Given the description of an element on the screen output the (x, y) to click on. 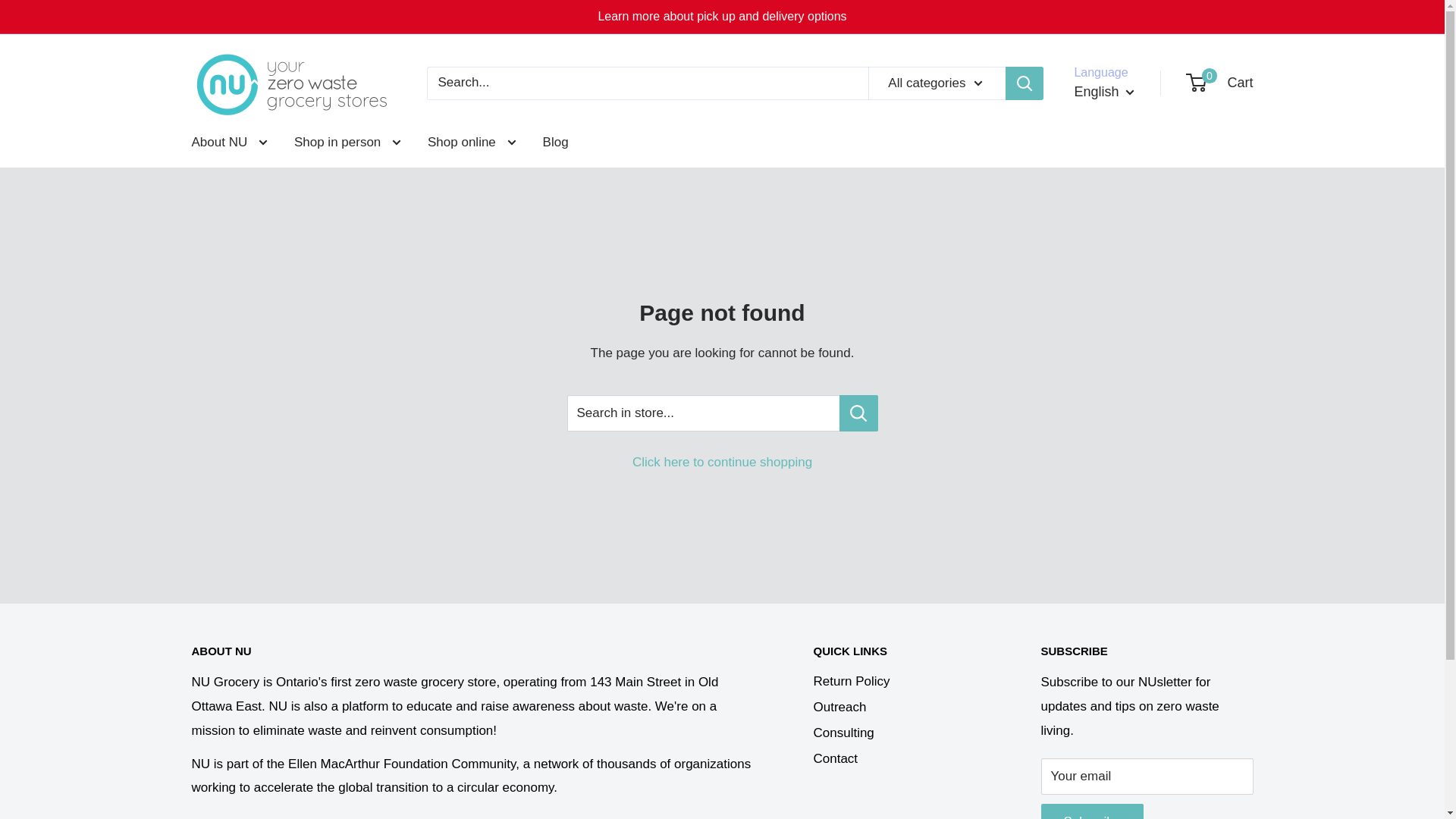
Learn more about pick up and delivery options (720, 16)
